Given the description of an element on the screen output the (x, y) to click on. 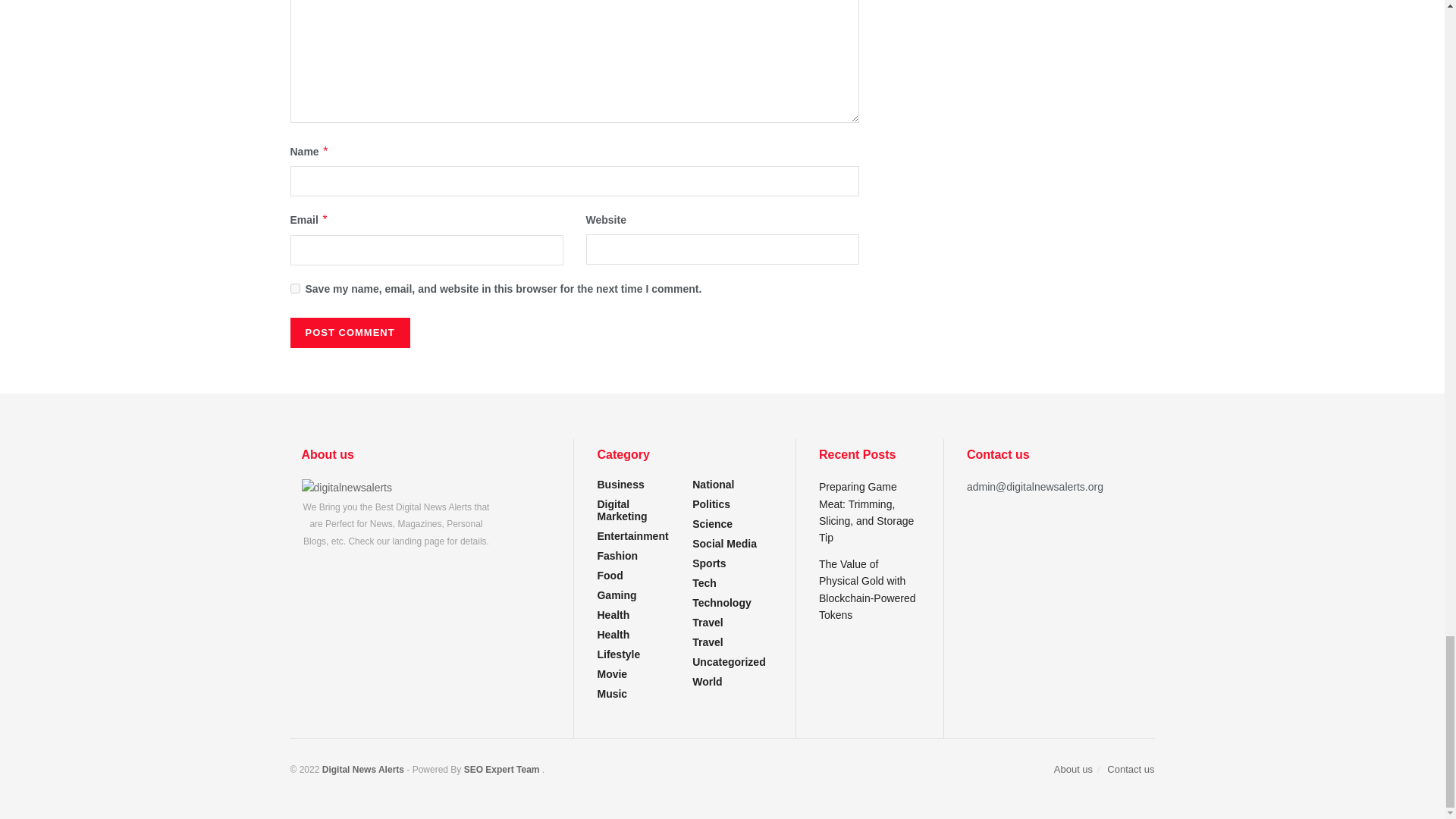
yes (294, 288)
About us (347, 487)
Umair Ali (501, 769)
Digital News Alerts (364, 769)
Post Comment (349, 332)
